Given the description of an element on the screen output the (x, y) to click on. 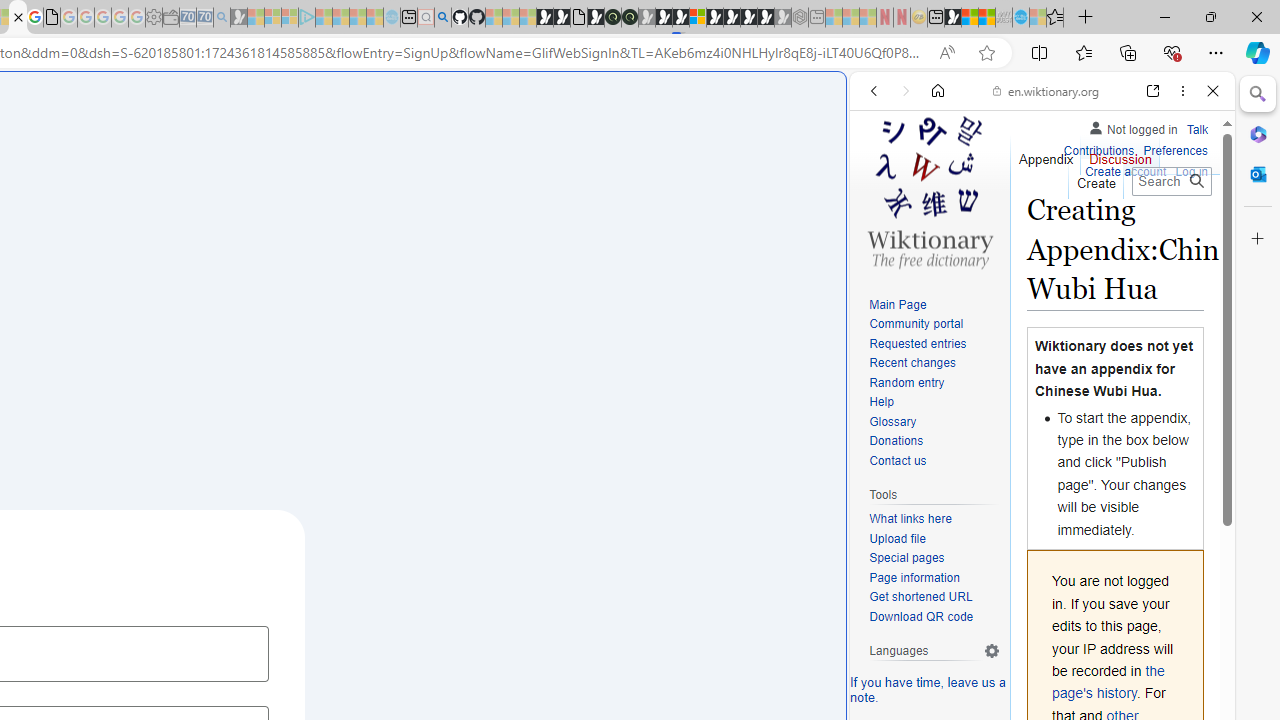
Glossary (892, 421)
Community portal (934, 324)
Recent changes (912, 362)
the page's history (1108, 681)
Page information (934, 578)
Random entry (934, 382)
